Given the description of an element on the screen output the (x, y) to click on. 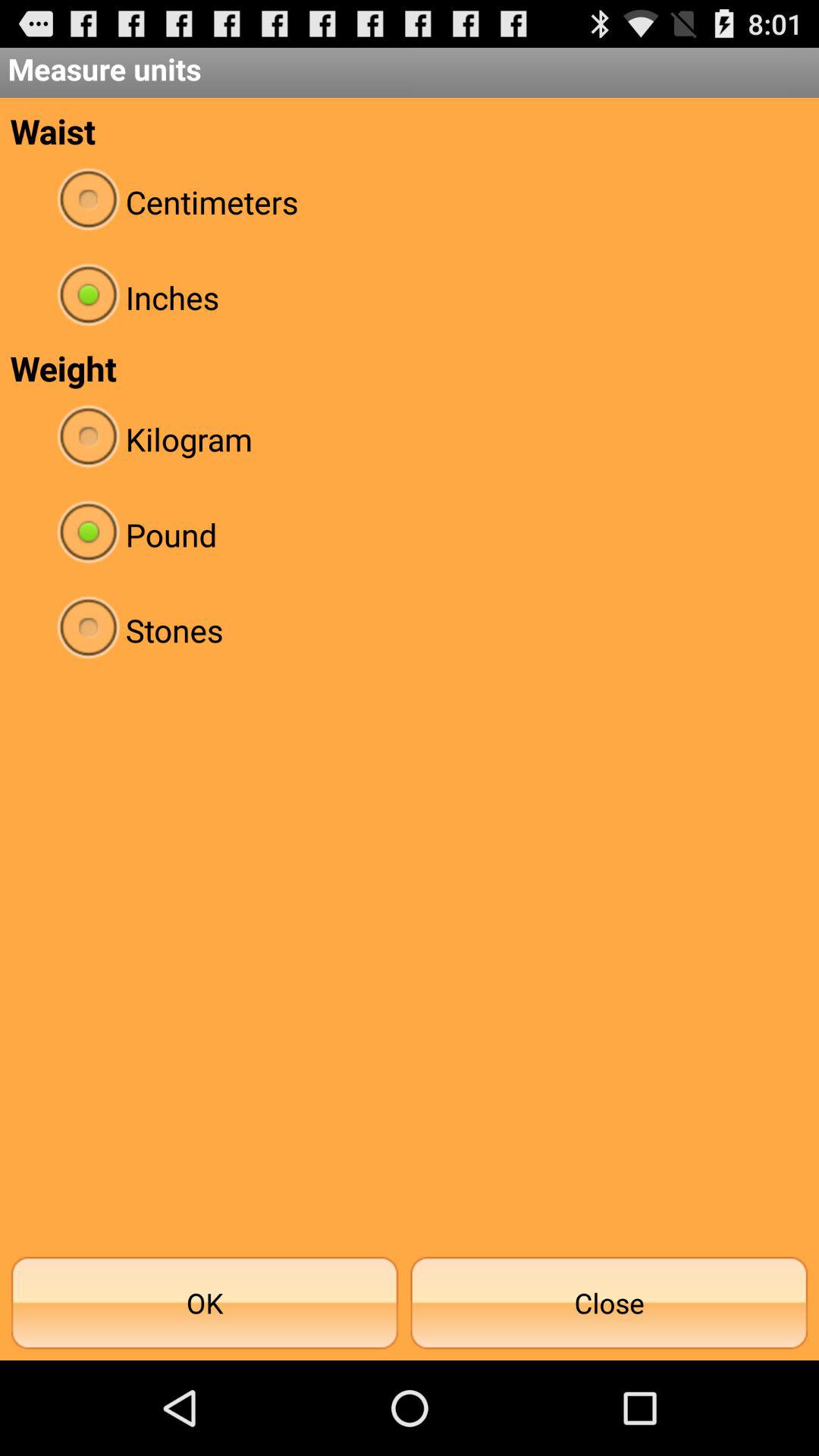
turn off stones icon (409, 629)
